Given the description of an element on the screen output the (x, y) to click on. 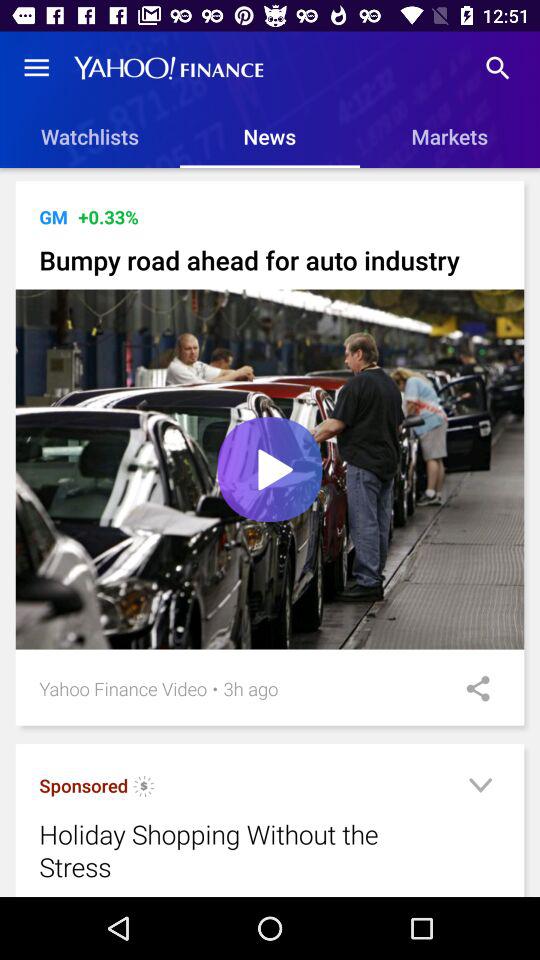
swipe to the yahoo finance video (122, 688)
